Given the description of an element on the screen output the (x, y) to click on. 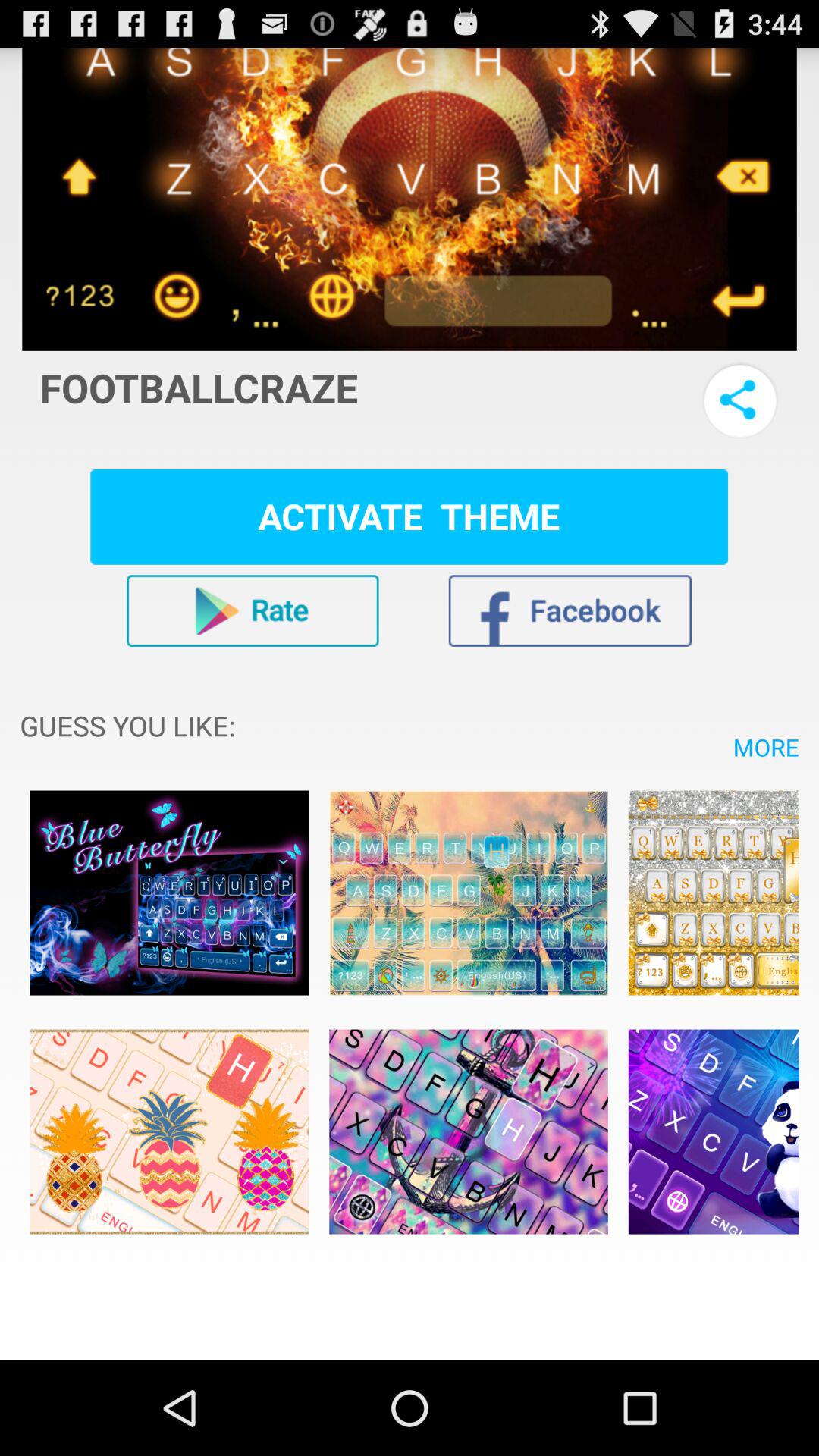
picture of more option (169, 1131)
